Given the description of an element on the screen output the (x, y) to click on. 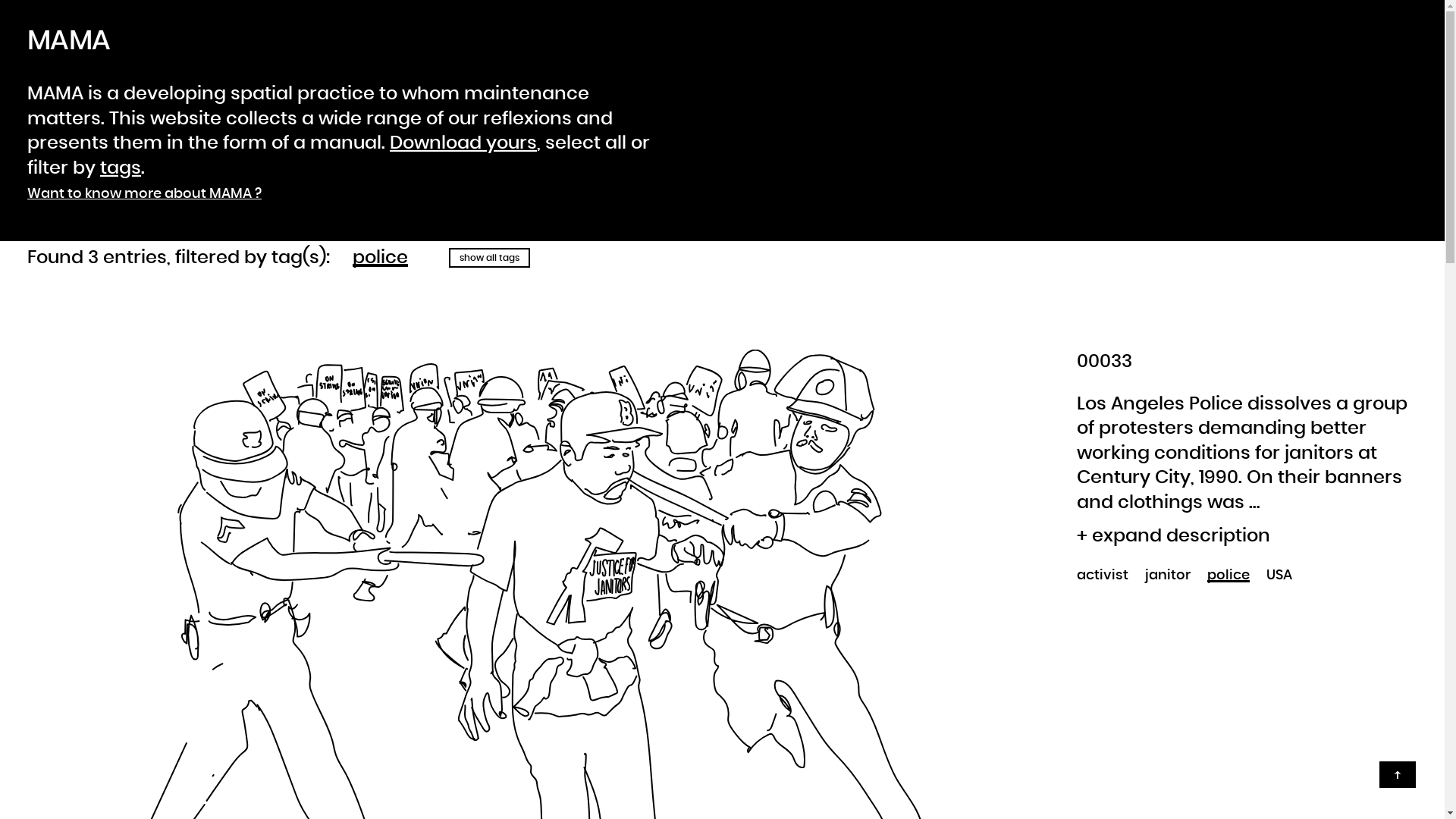
activist Element type: text (1102, 575)
USA Element type: text (1279, 575)
janitor Element type: text (1167, 575)
police Element type: text (379, 257)
tags Element type: text (120, 168)
MAMA Element type: text (68, 218)
Want to know more about MAMA ? Element type: text (144, 193)
MAMA Element type: text (68, 40)
police Element type: text (1228, 575)
Download yours Element type: text (462, 143)
